Given the description of an element on the screen output the (x, y) to click on. 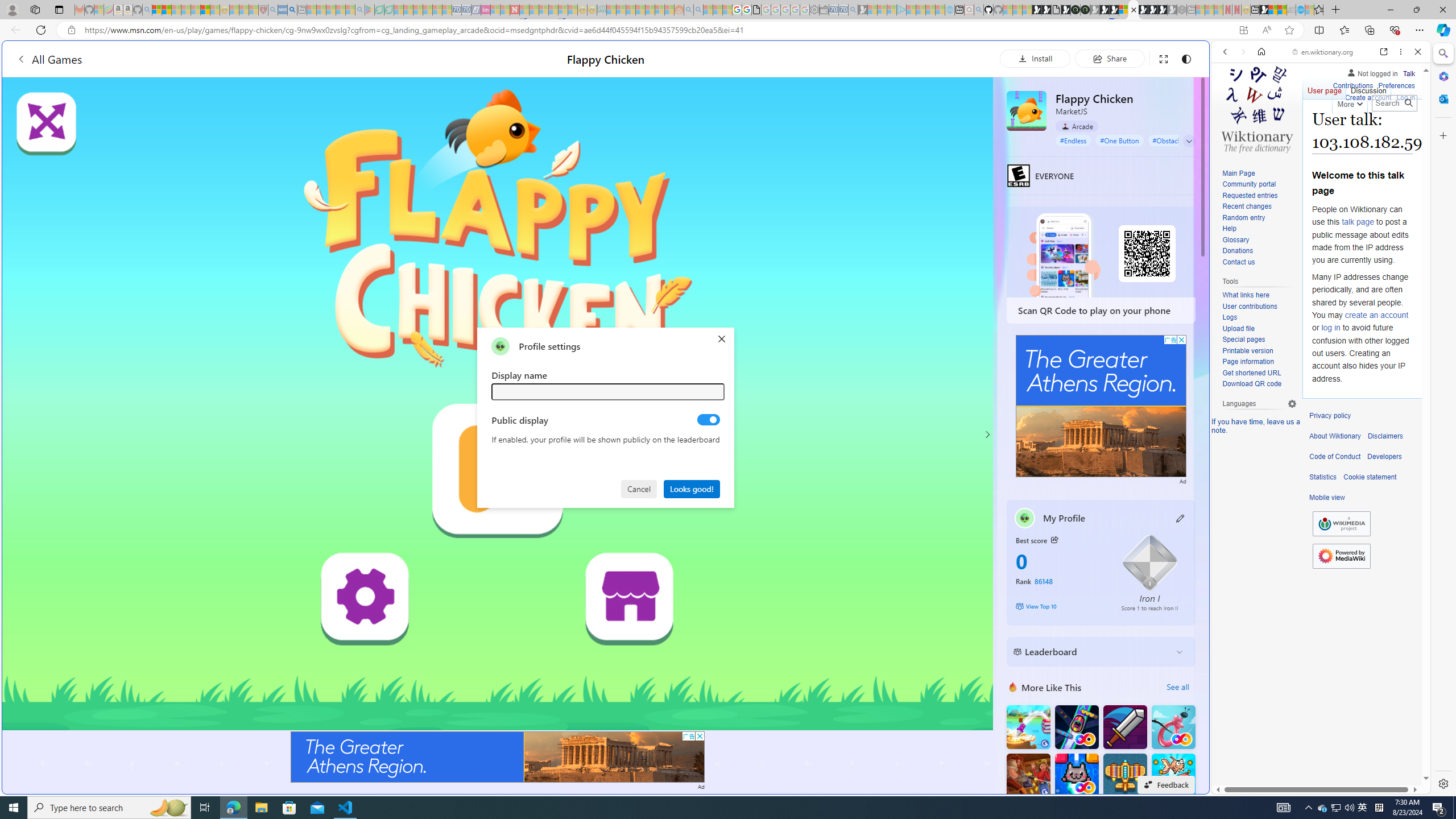
Knife Flip (1028, 726)
Bumper Car FRVR (1076, 726)
Kitten Force FRVR (1076, 775)
Talk (1408, 71)
App available. Install Flappy Chicken (1243, 29)
Search the web (1326, 78)
Atlantic Sky Hunter (1124, 775)
